Given the description of an element on the screen output the (x, y) to click on. 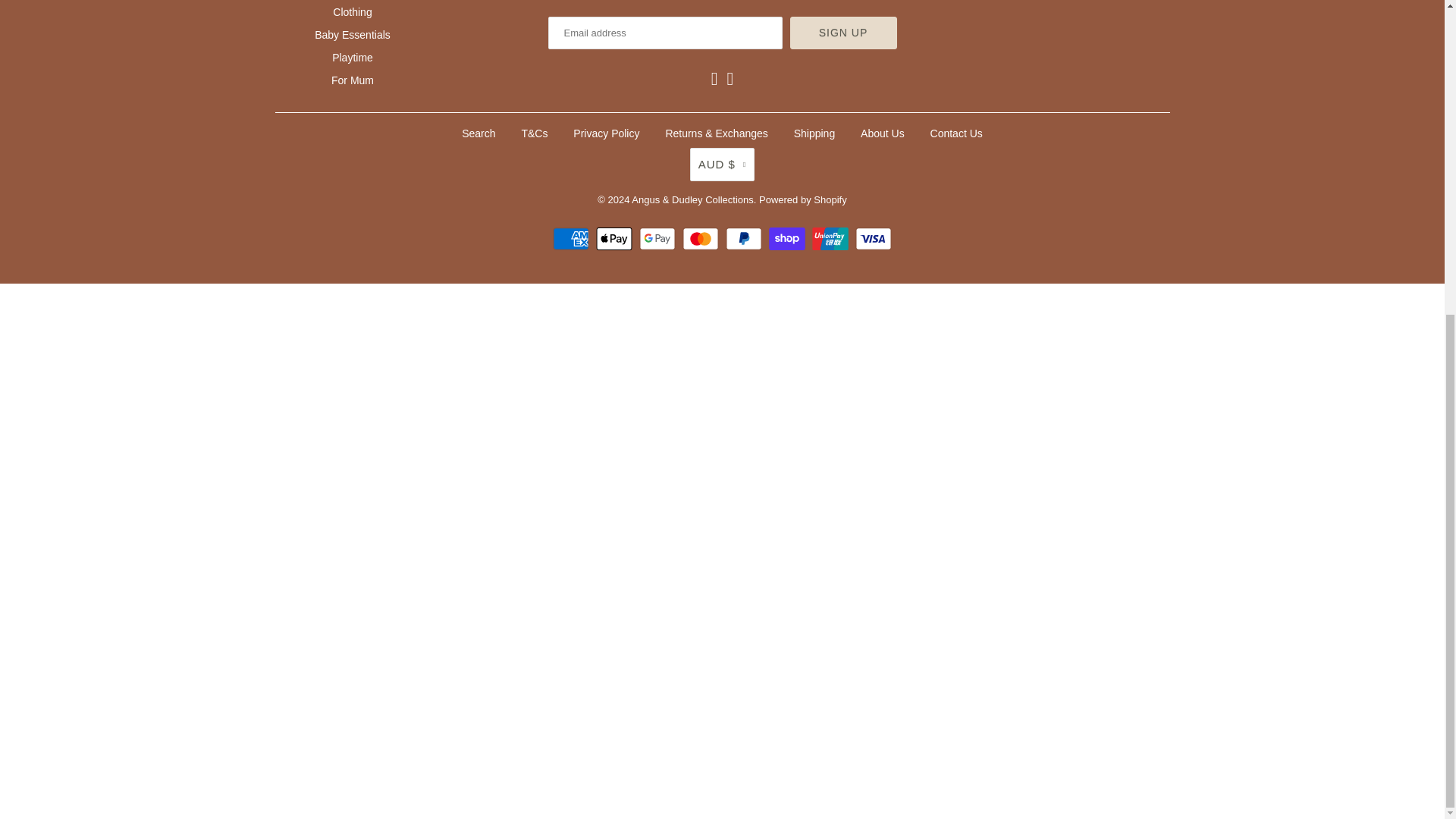
Union Pay (831, 238)
American Express (572, 238)
Sign Up (843, 32)
Google Pay (659, 238)
Apple Pay (615, 238)
PayPal (745, 238)
Shop Pay (788, 238)
Mastercard (702, 238)
Visa (873, 238)
